Given the description of an element on the screen output the (x, y) to click on. 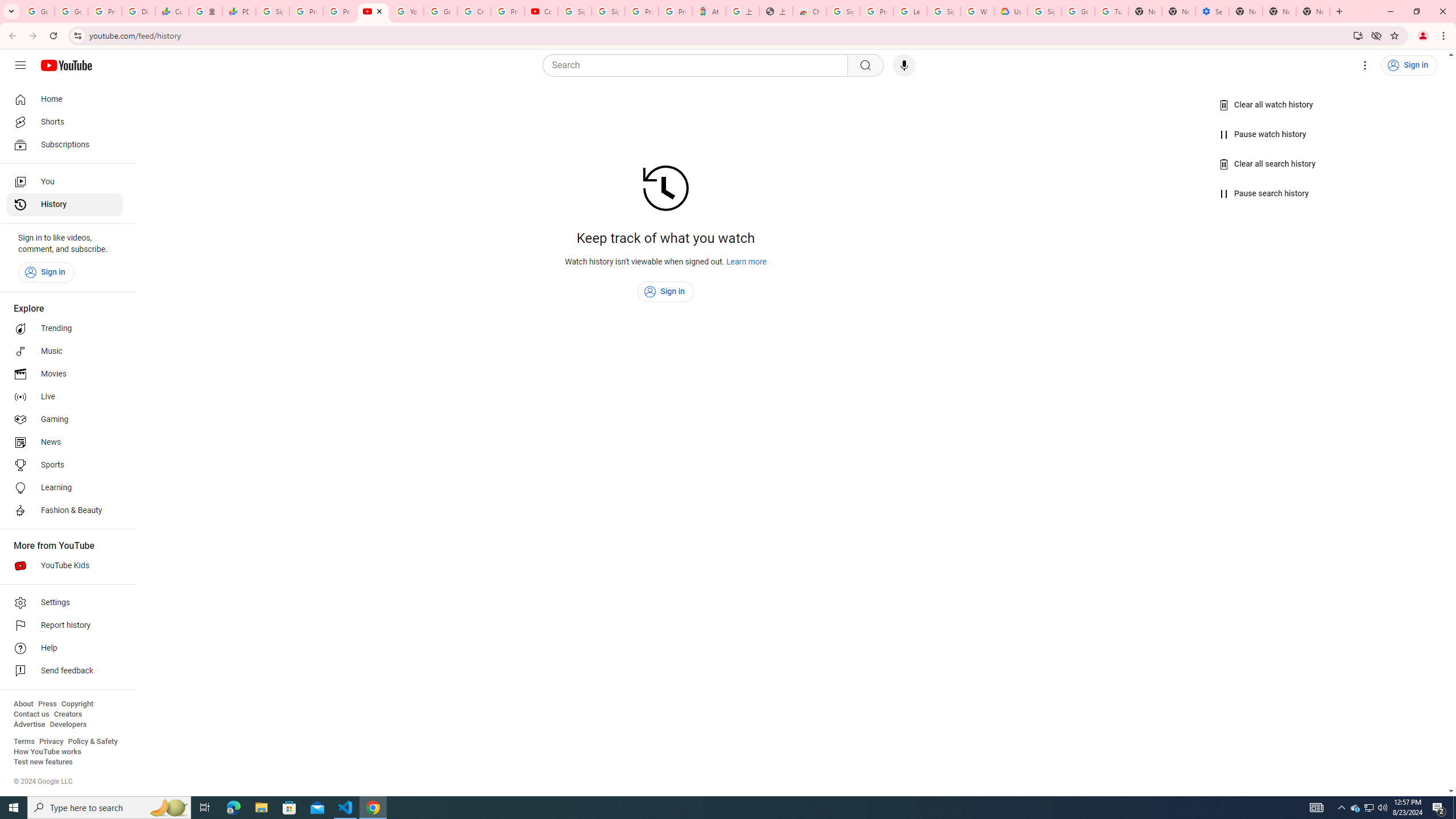
New Tab (1246, 11)
Music (64, 350)
Who are Google's partners? - Privacy and conditions - Google (976, 11)
Shorts (64, 121)
Clear all search history (1267, 163)
Create your Google Account (474, 11)
Subscriptions (64, 144)
Clear all watch history (1266, 105)
Sign in - Google Accounts (574, 11)
Sports (64, 464)
New Tab (1313, 11)
Sign in - Google Accounts (608, 11)
